Given the description of an element on the screen output the (x, y) to click on. 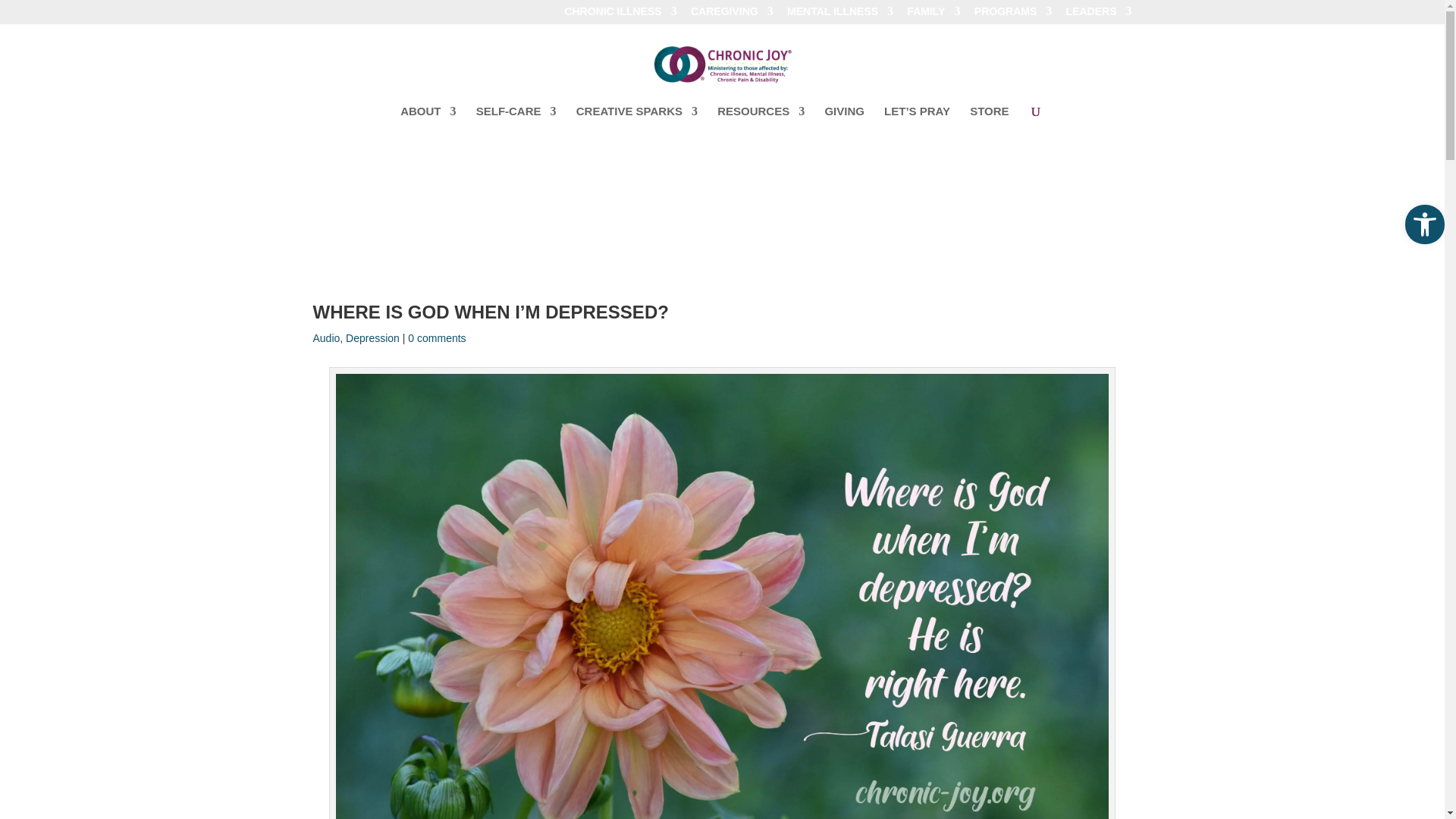
MENTAL ILLNESS (840, 15)
Accessibility Tools (1424, 224)
FAMILY (933, 15)
CAREGIVING (731, 15)
CHRONIC ILLNESS (620, 15)
PROGRAMS (1012, 15)
